Given the description of an element on the screen output the (x, y) to click on. 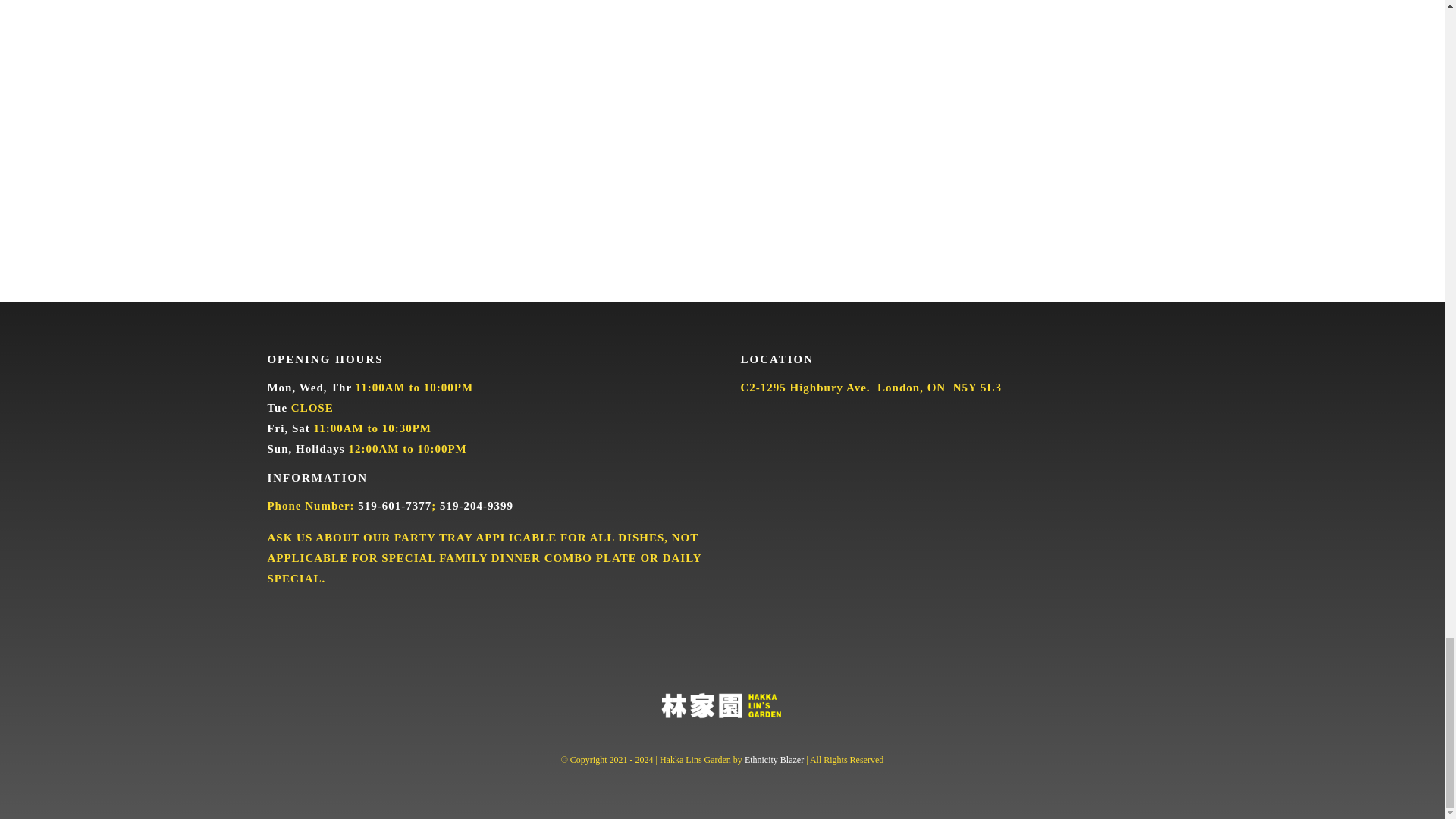
519-601-7377 (394, 505)
Ethnicity Blazer (773, 759)
519-204-9399 (476, 505)
LOGO (721, 705)
